Given the description of an element on the screen output the (x, y) to click on. 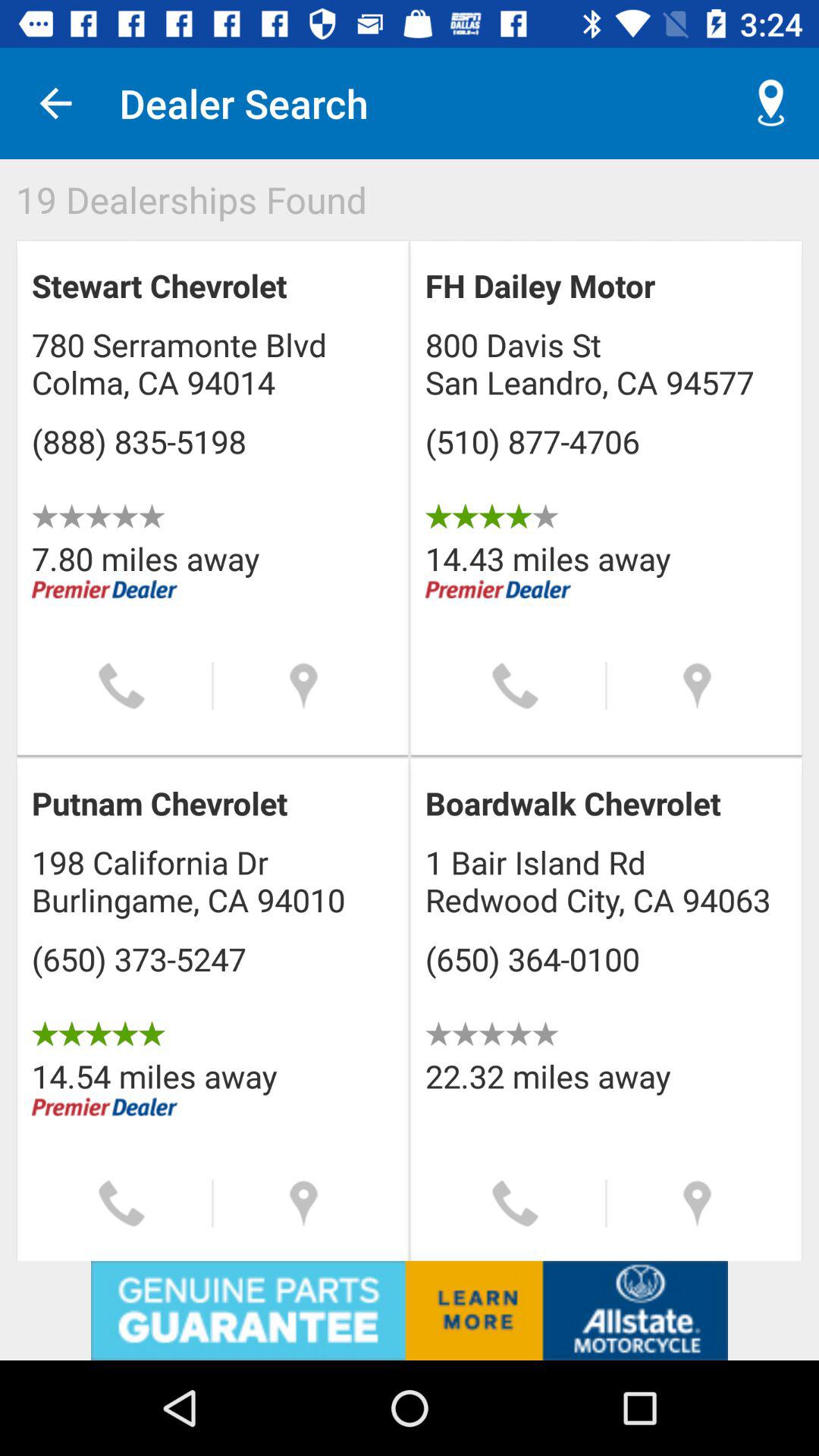
call (515, 1203)
